Given the description of an element on the screen output the (x, y) to click on. 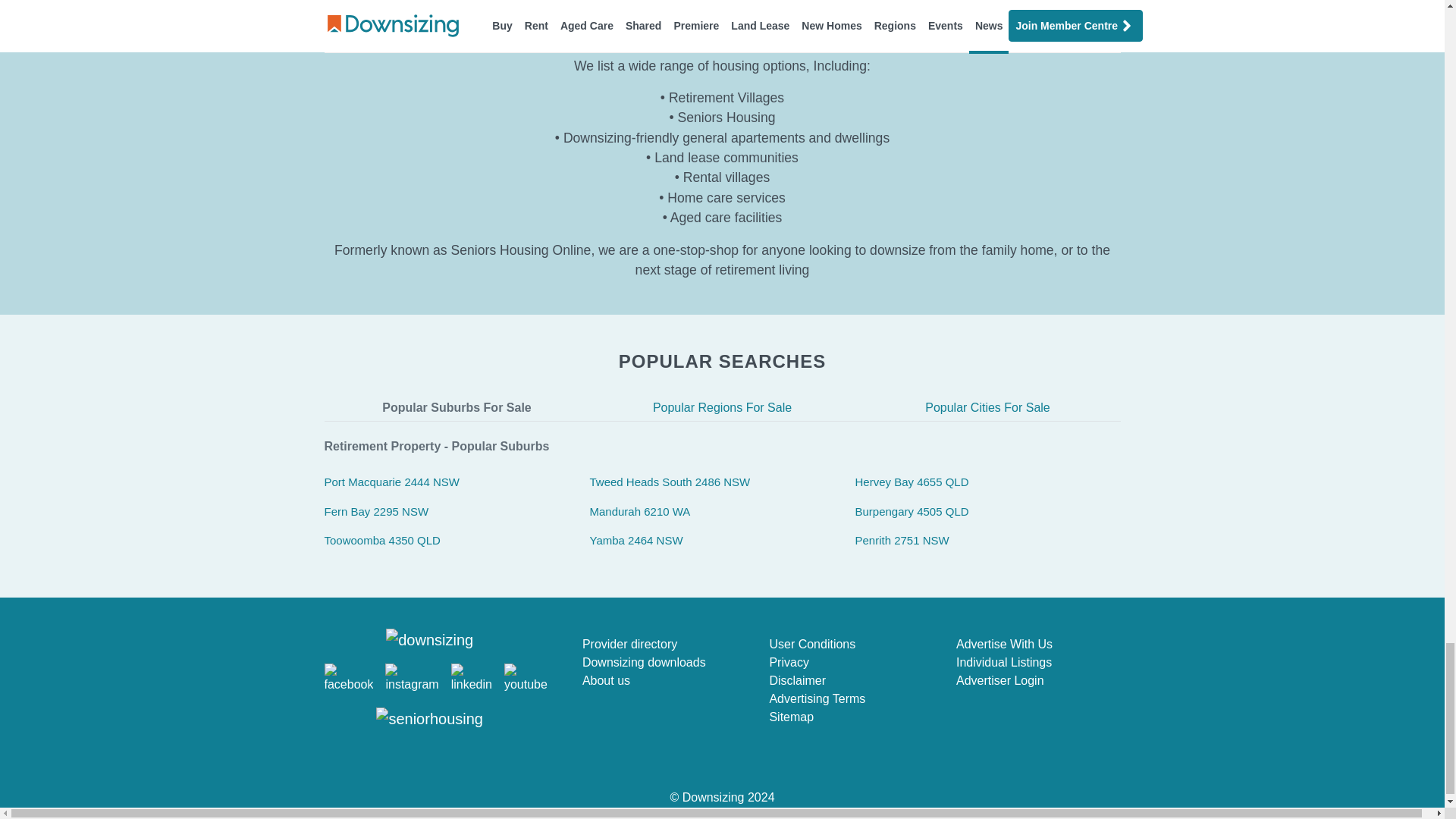
Downsizing (721, 797)
